Given the description of an element on the screen output the (x, y) to click on. 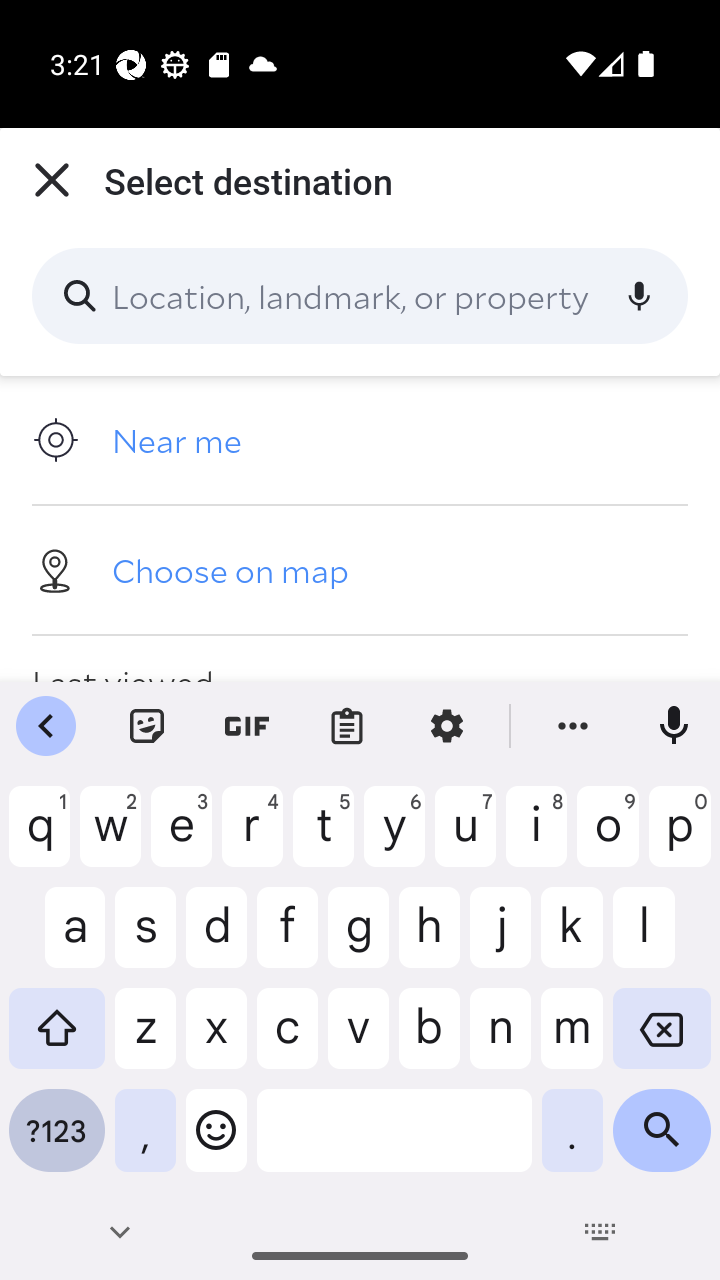
Location, landmark, or property (359, 296)
Near me (360, 440)
Choose on map (360, 569)
